Given the description of an element on the screen output the (x, y) to click on. 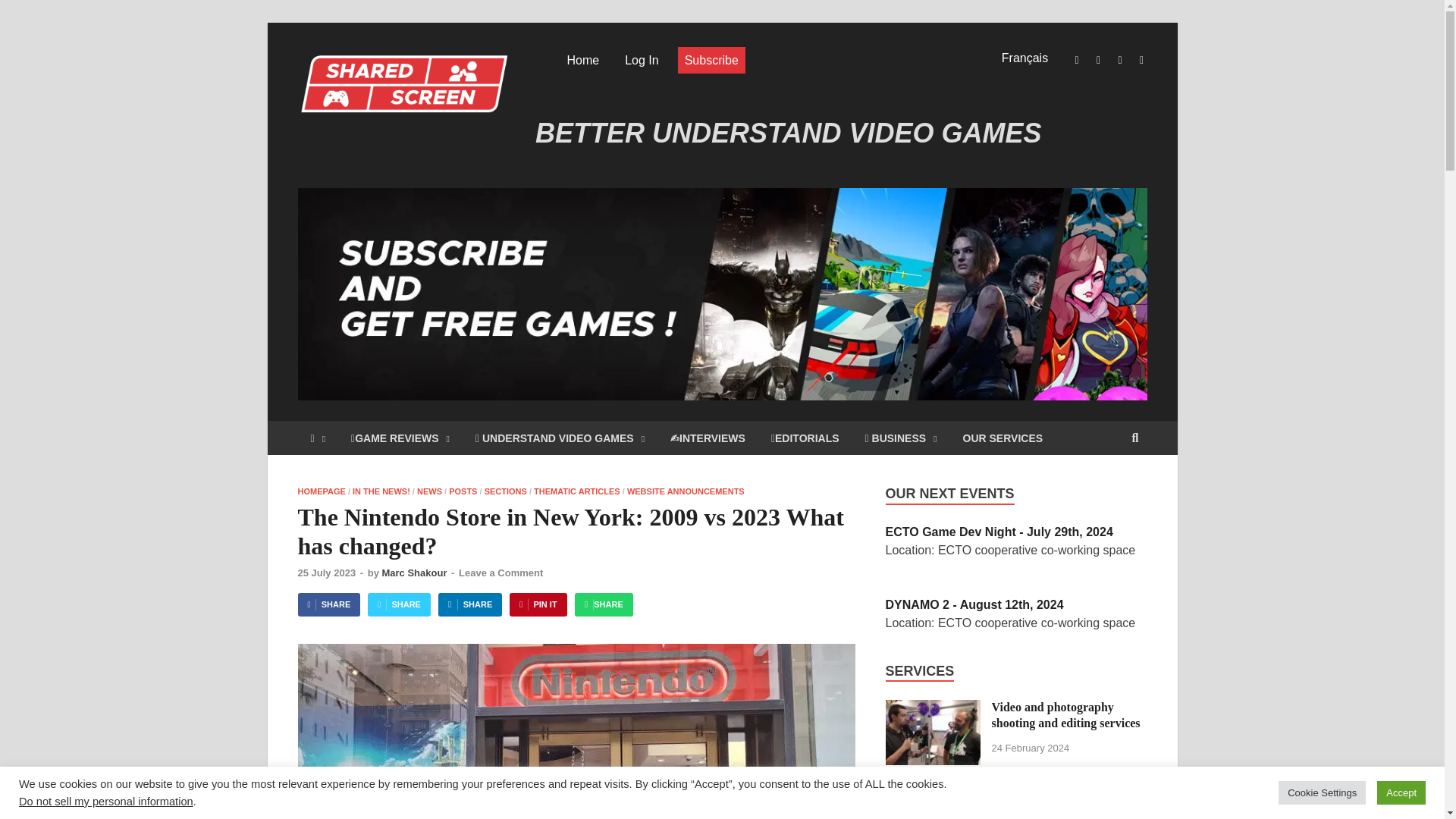
Subscribe (711, 59)
Log In (641, 59)
Home (582, 59)
